Given the description of an element on the screen output the (x, y) to click on. 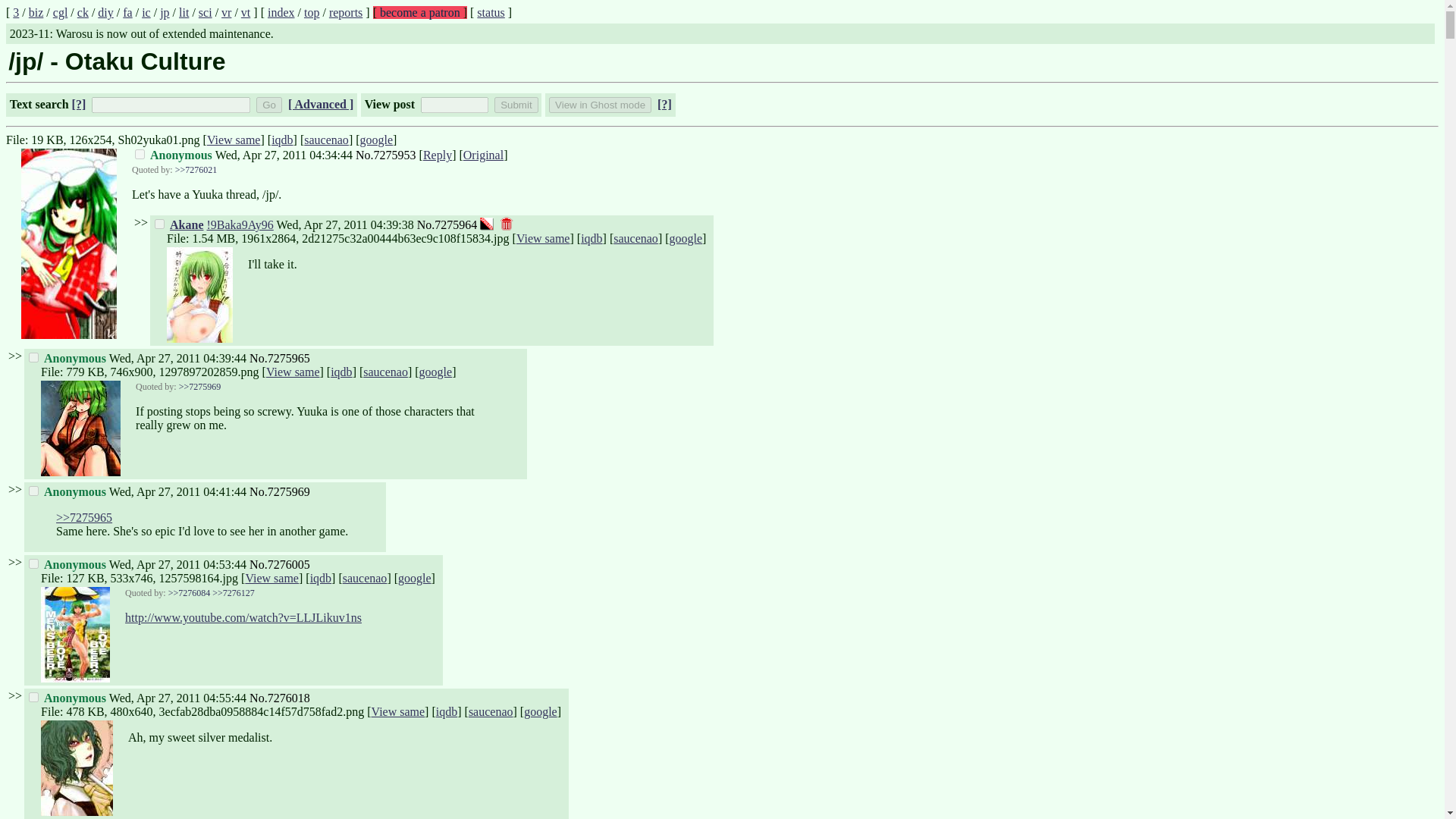
7275965,0 (34, 357)
status (490, 11)
Go (269, 105)
1303850504000 (177, 491)
View in Ghost mode (599, 105)
index (281, 11)
reports (345, 11)
1303850378000 (344, 224)
Picture in this post is marked as spoiler (486, 223)
iqdb (281, 139)
sci (205, 11)
View same (233, 139)
1303851344000 (177, 697)
No. (364, 154)
1303851224000 (177, 563)
